Given the description of an element on the screen output the (x, y) to click on. 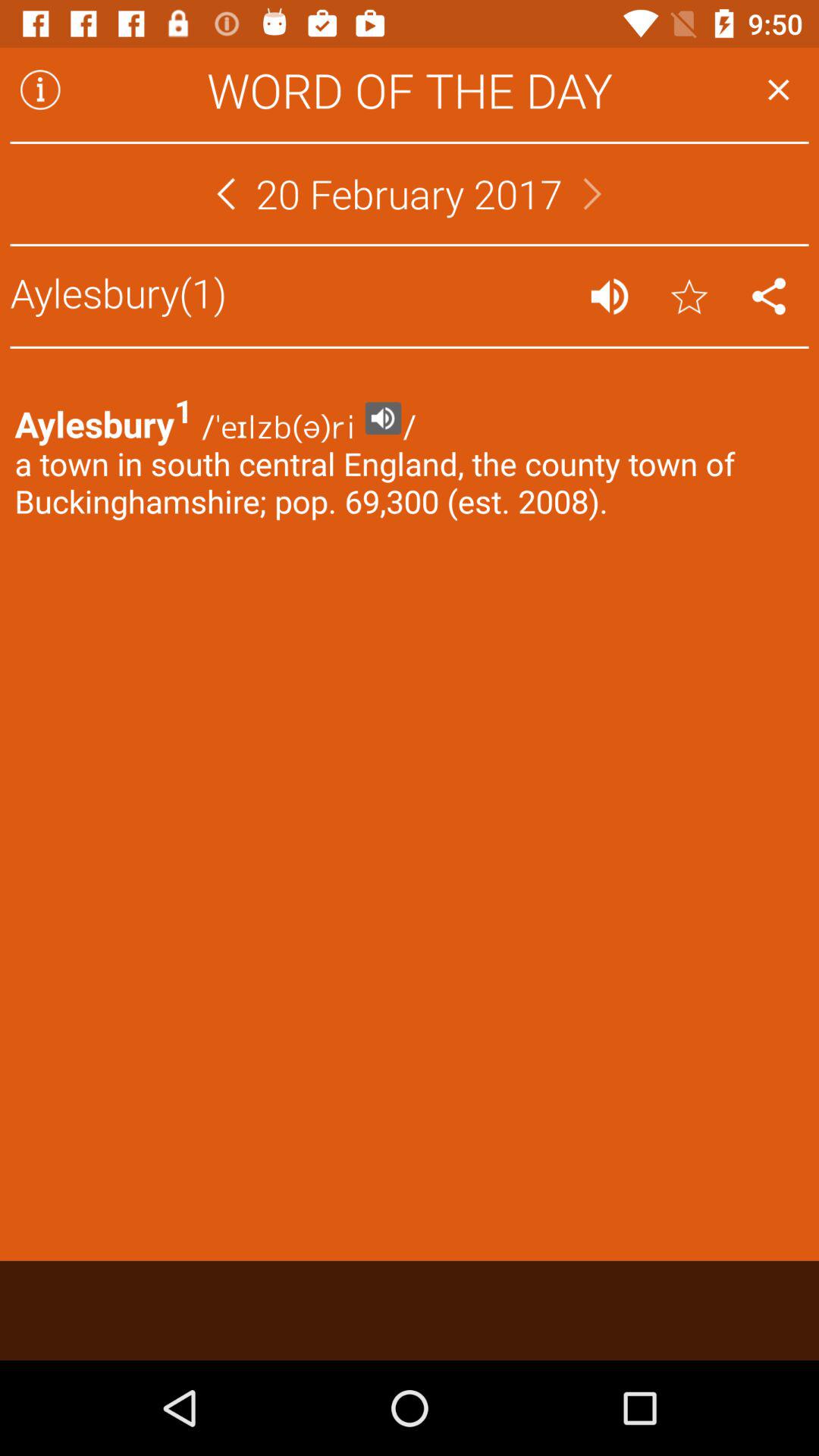
press the item next to 20 february 2017 app (592, 193)
